Given the description of an element on the screen output the (x, y) to click on. 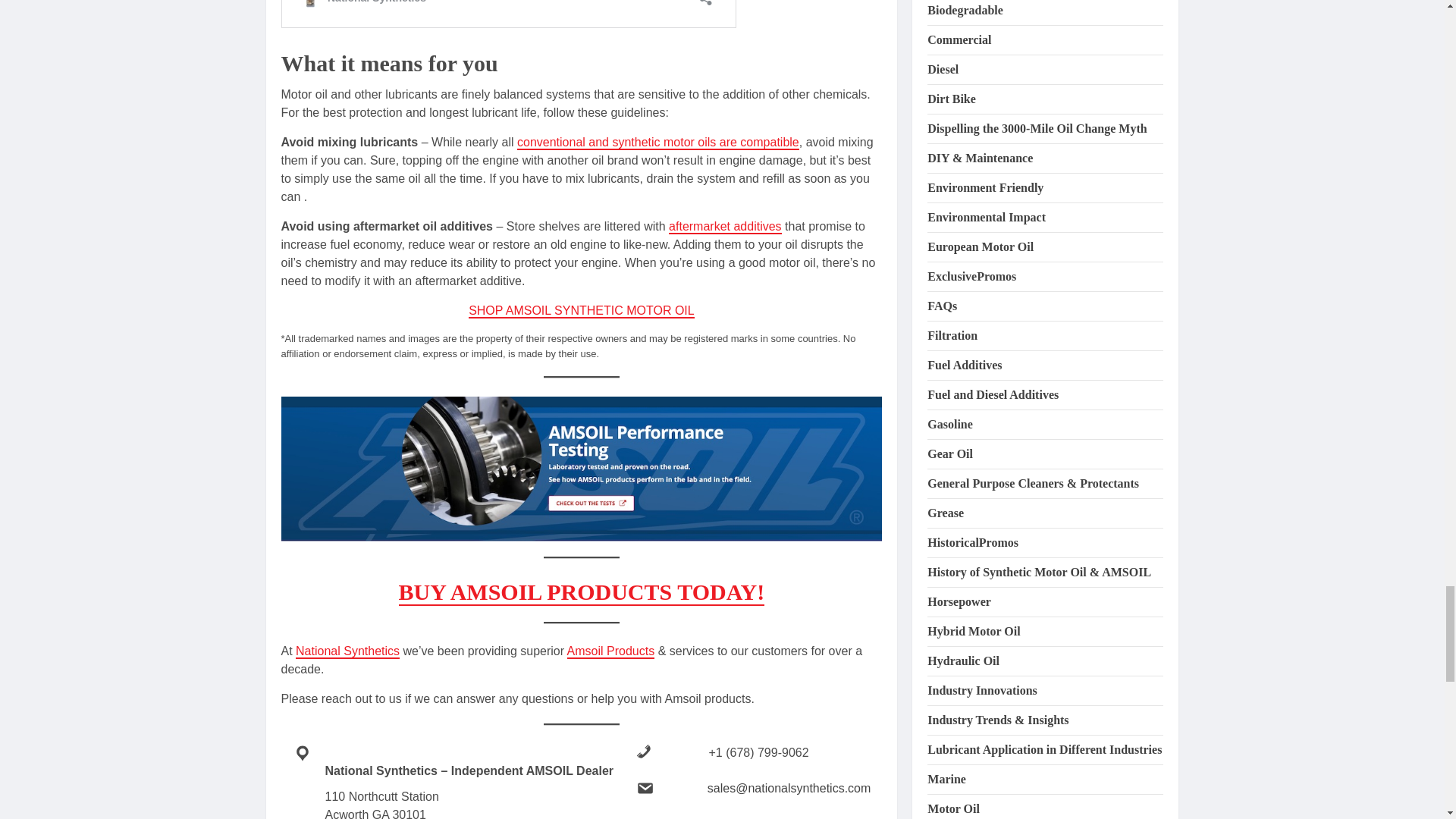
BUY Amsoil Products (346, 651)
BUY AMSOIL SYNTHETIC MOTOR OIL (581, 310)
Can I mix Synthetic and Conventional oils? (657, 142)
BUY Amsoil Products (611, 651)
Do Engine Oil Additives Really Work? (724, 227)
BUY AMSOIL PRODUCTS TODAY! (581, 592)
